Given the description of an element on the screen output the (x, y) to click on. 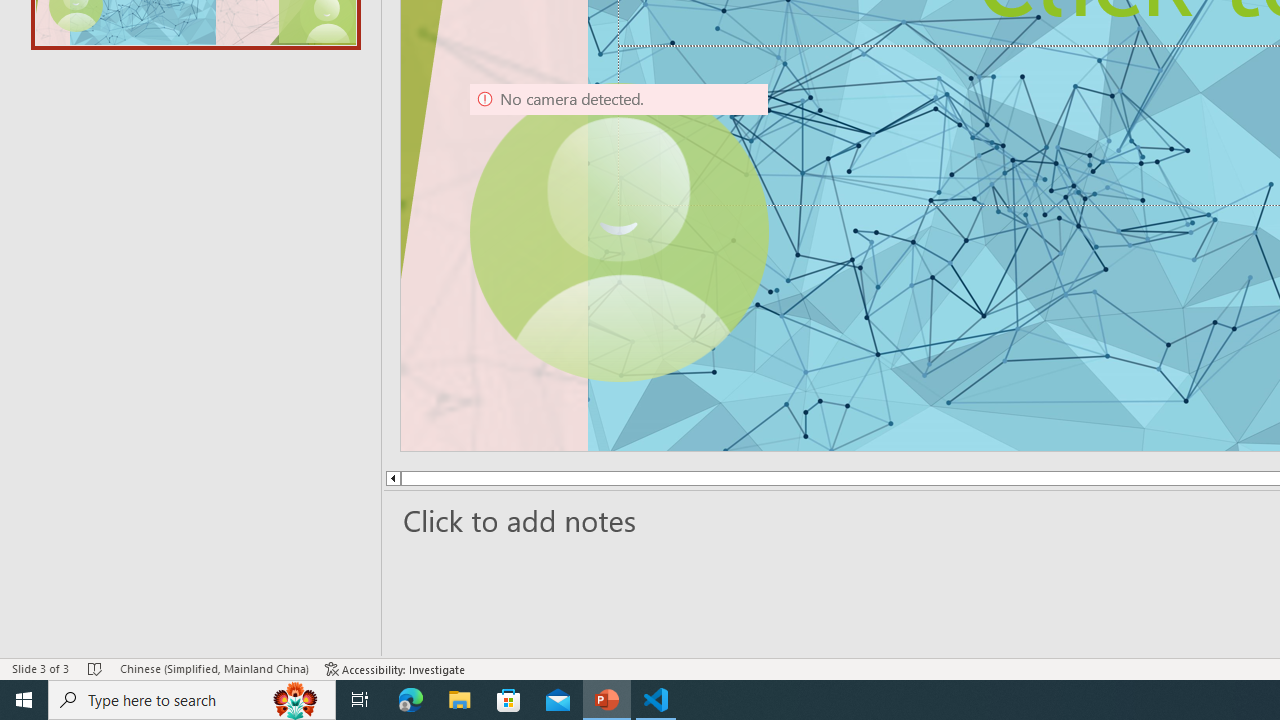
Camera 9, No camera detected. (619, 232)
